Given the description of an element on the screen output the (x, y) to click on. 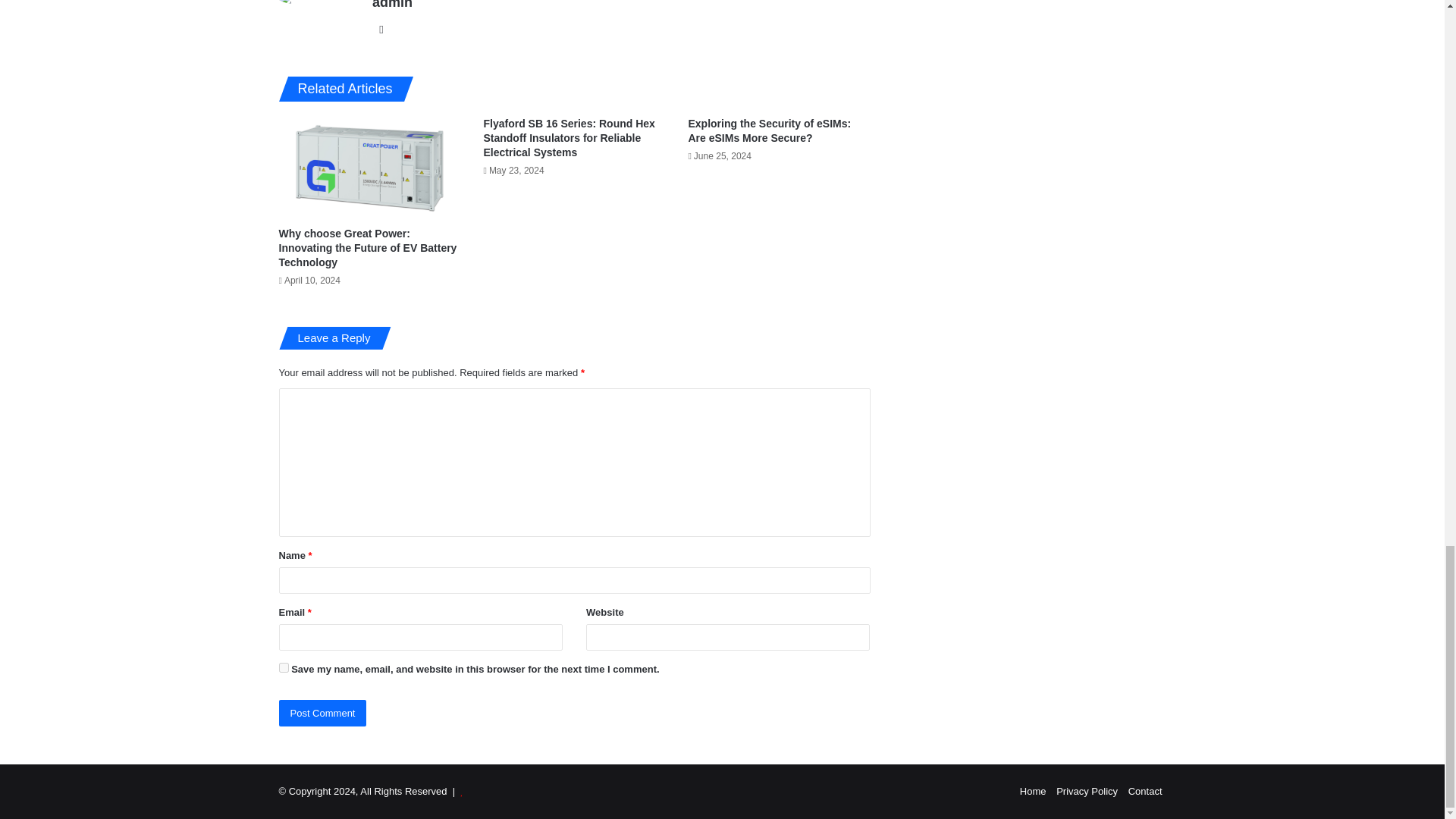
Post Comment (322, 713)
Exploring the Security of eSIMs: Are eSIMs More Secure? (768, 130)
Website (381, 29)
yes (283, 667)
admin (392, 4)
